Given the description of an element on the screen output the (x, y) to click on. 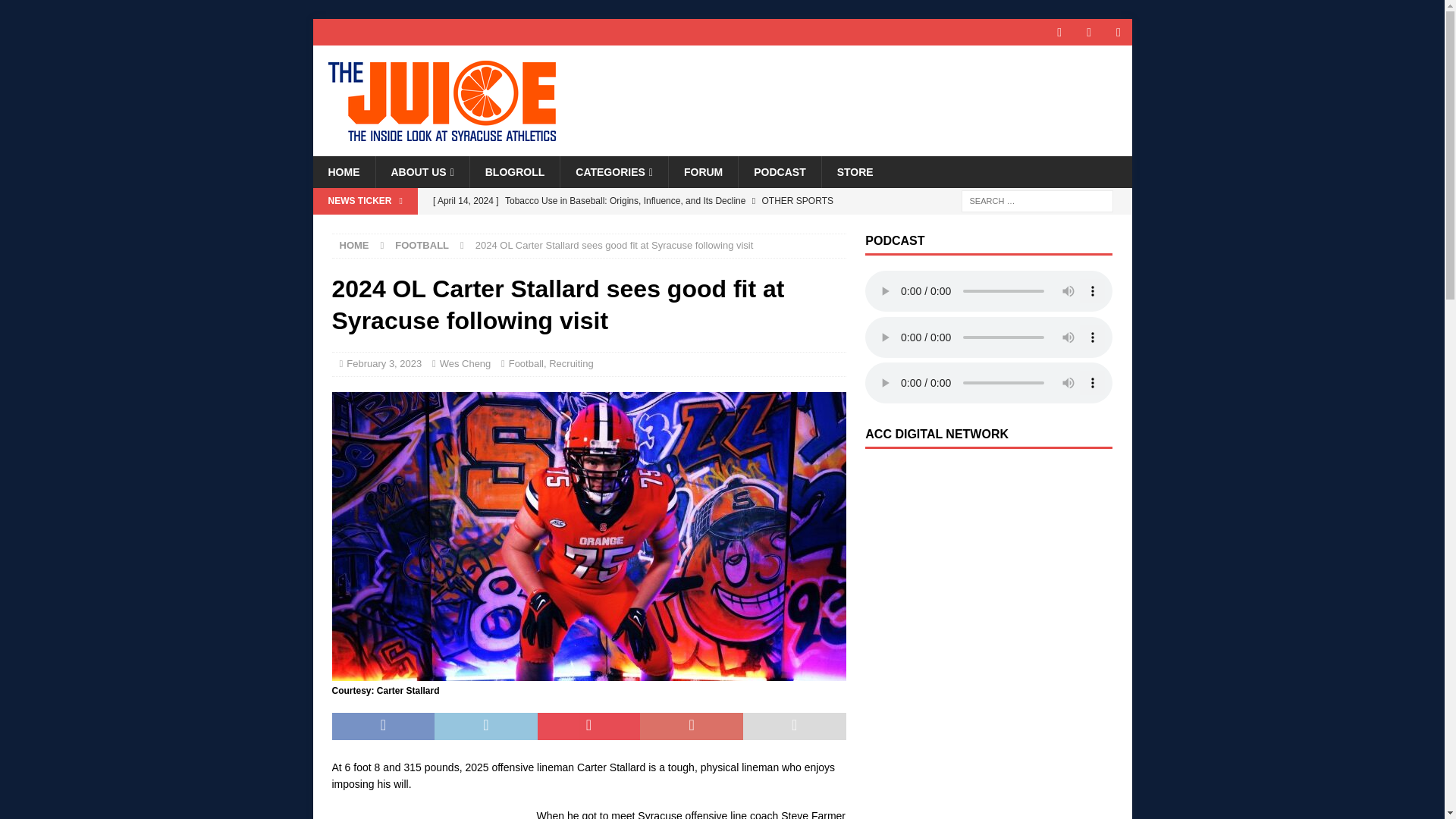
PODCAST (779, 172)
Search (56, 11)
ABOUT US (421, 172)
Advertisement (426, 813)
February 3, 2023 (384, 363)
Tobacco Use in Baseball: Origins, Influence, and Its Decline (634, 200)
HOME (354, 244)
BLOGROLL (514, 172)
Wes Cheng (465, 363)
Football (525, 363)
